Given the description of an element on the screen output the (x, y) to click on. 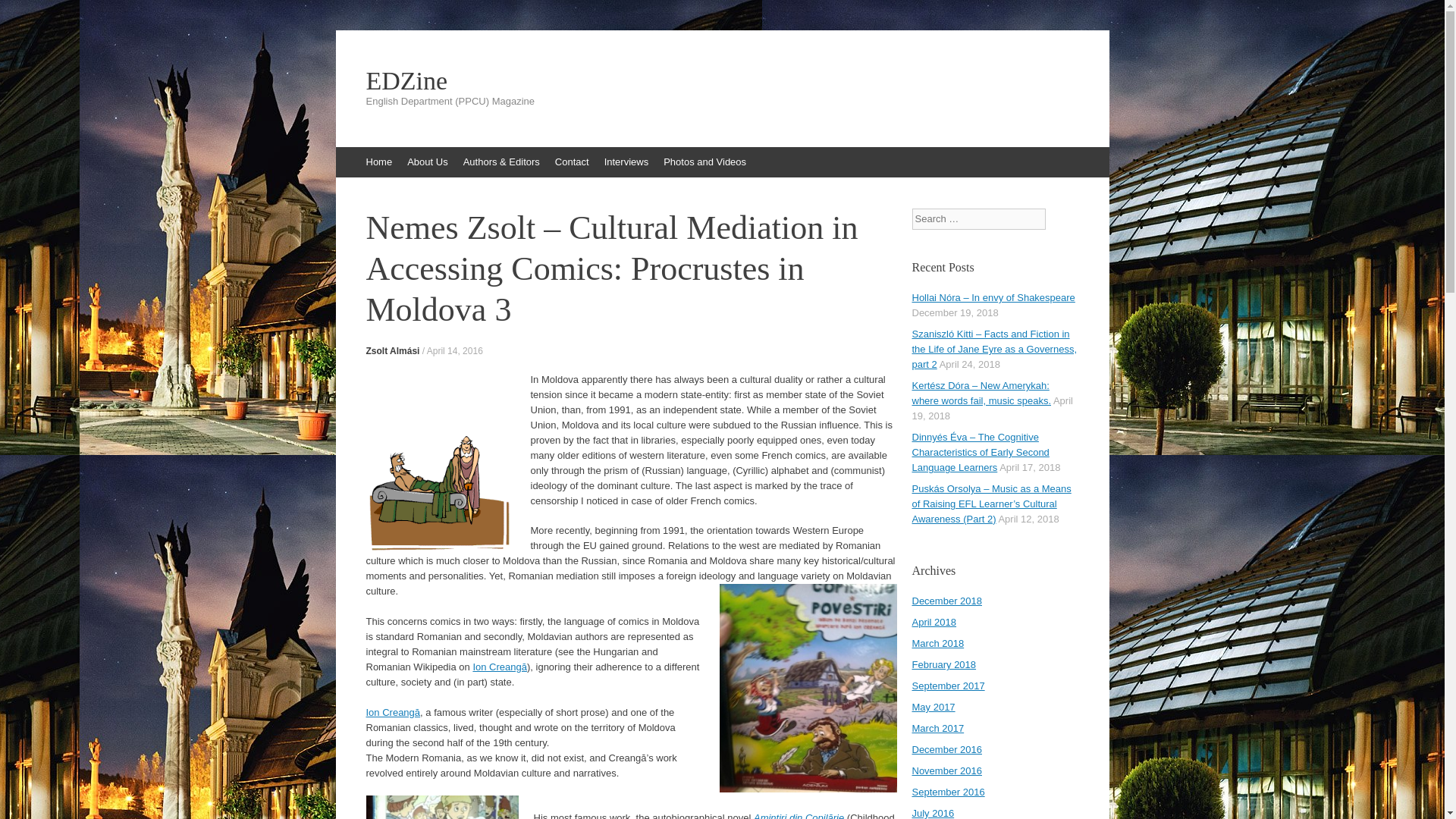
Contact (571, 162)
About Us (426, 162)
April 14, 2016 (454, 350)
Home (378, 162)
Skip to content (374, 162)
EDZine (721, 80)
EDZine (721, 80)
Interviews (626, 162)
Photos and Videos (705, 162)
